Given the description of an element on the screen output the (x, y) to click on. 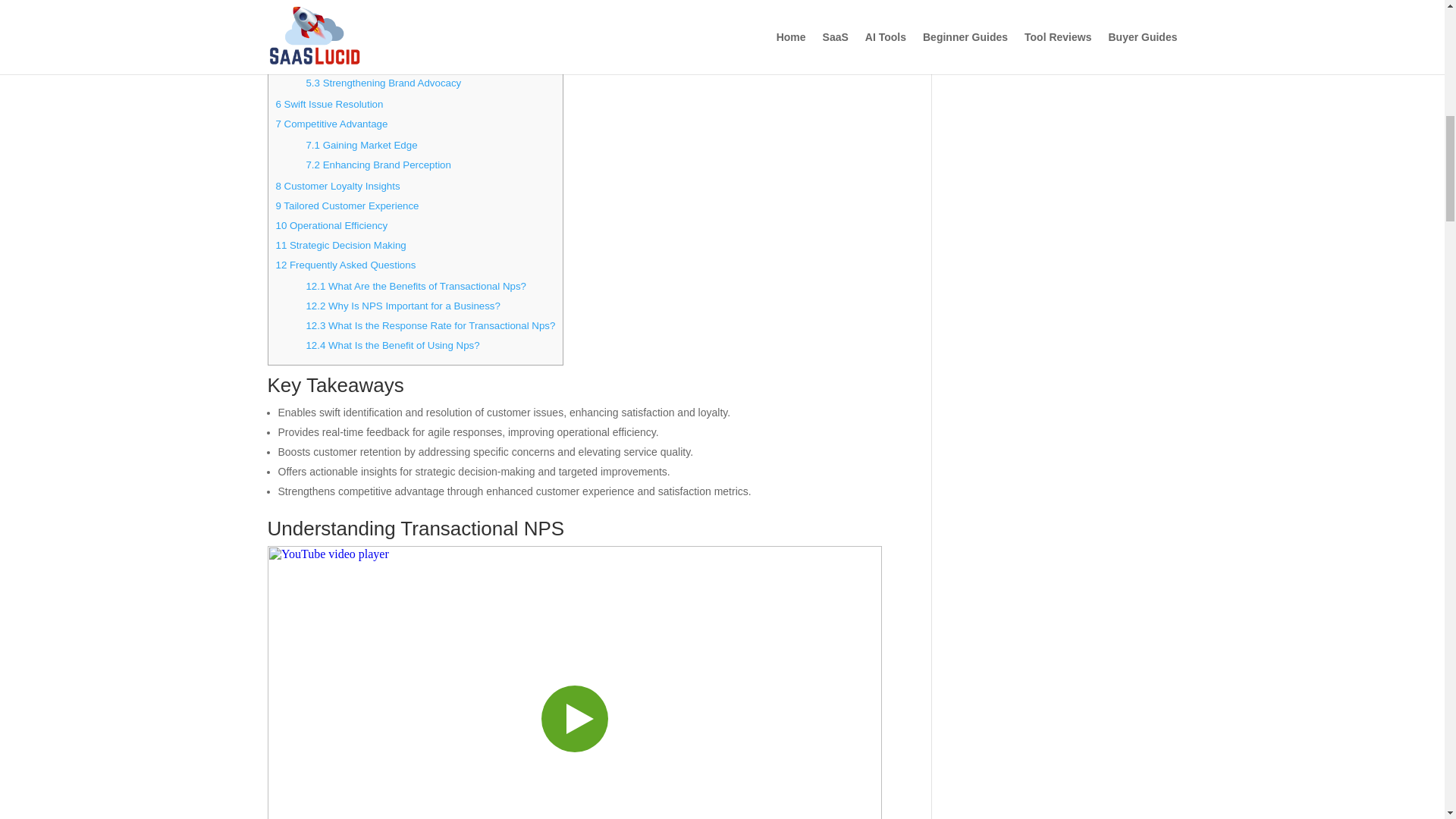
5.2 Reducing Churn Rates (365, 62)
12.3 What Is the Response Rate for Transactional Nps? (429, 325)
9 Tailored Customer Experience (347, 205)
5 Improved Customer Retention (347, 21)
11 Strategic Decision Making (341, 244)
8 Customer Loyalty Insights (338, 185)
12.2 Why Is NPS Important for a Business? (402, 306)
12.4 What Is the Benefit of Using Nps? (392, 345)
4.3 Boosting Loyalty Metrics (367, 3)
